Given the description of an element on the screen output the (x, y) to click on. 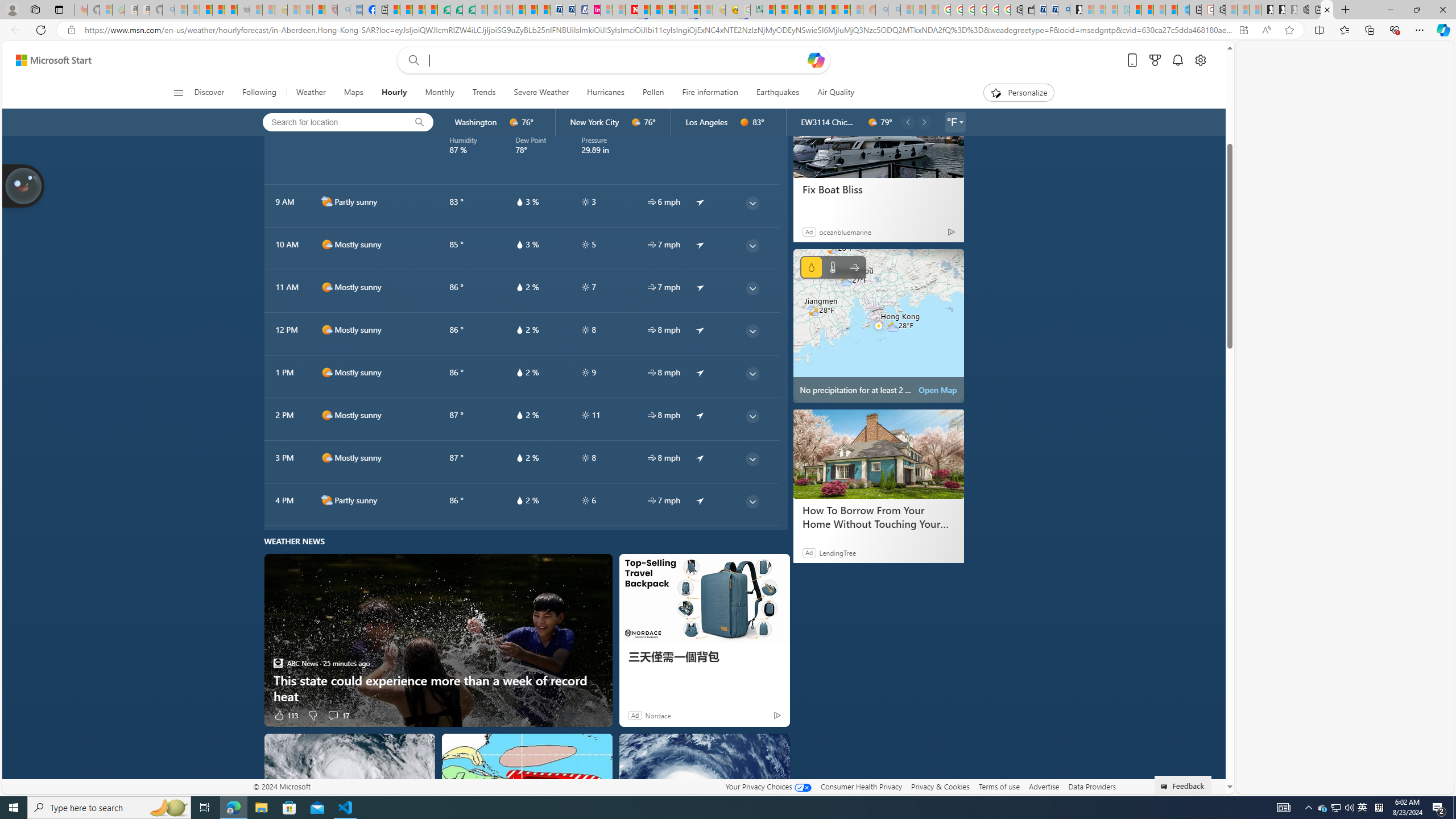
hourlyTable/uv (584, 500)
Earthquakes (777, 92)
common/arrow (700, 500)
Microsoft Word - consumer-privacy address update 2.2021 (468, 9)
Air Quality (831, 92)
